Given the description of an element on the screen output the (x, y) to click on. 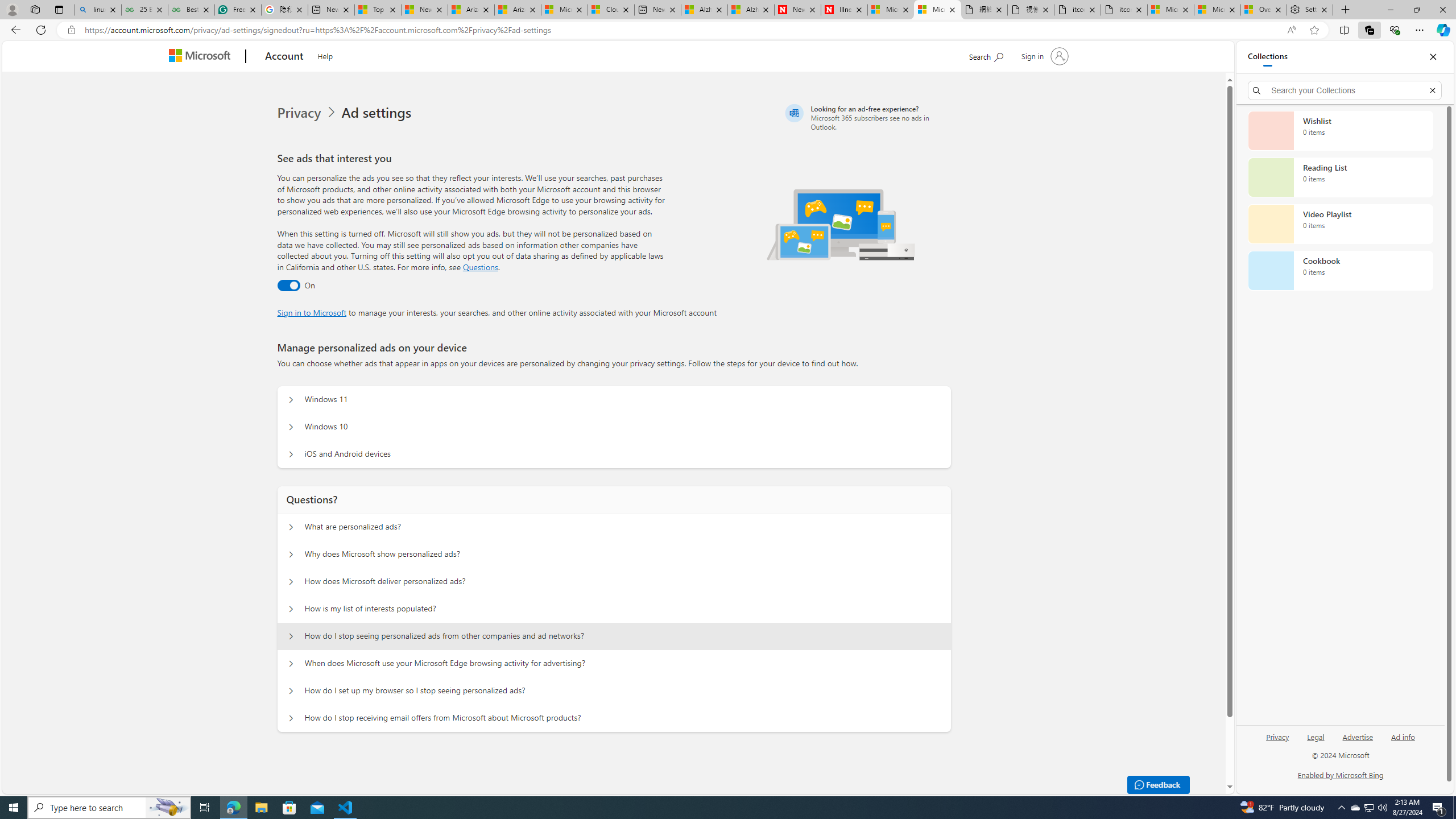
Newsweek - News, Analysis, Politics, Business, Technology (797, 9)
Search your Collections (1345, 90)
Manage personalized ads on your device Windows 11 (290, 400)
Manage personalized ads on your device Windows 10 (290, 427)
Questions? How is my list of interests populated? (290, 608)
